Given the description of an element on the screen output the (x, y) to click on. 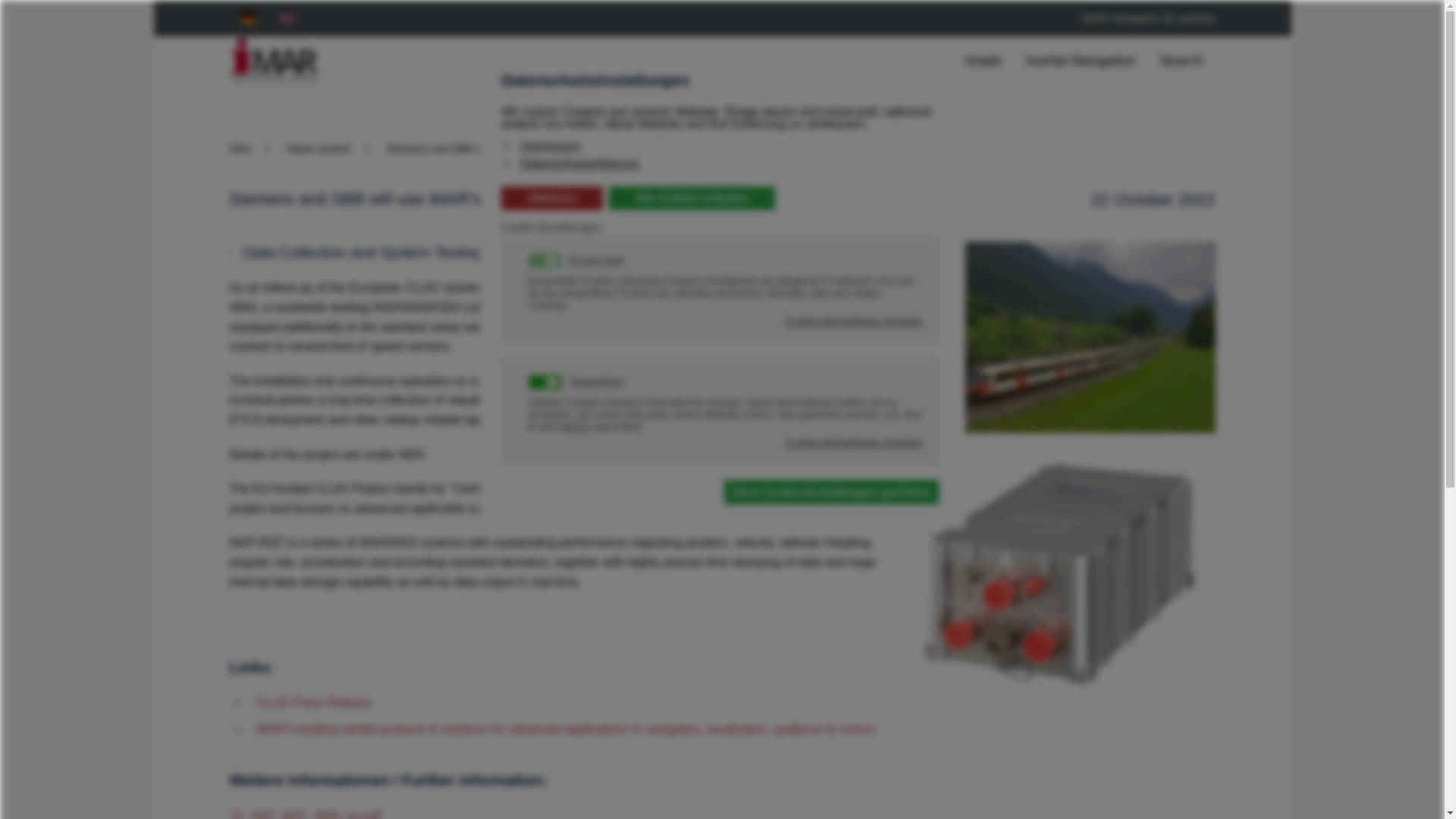
English (285, 17)
Impressum (541, 146)
iNAT-RQT-4003 (304, 812)
Essenziell (598, 260)
Deutsch (247, 17)
Alle Cookies erlauben (691, 198)
Statistiken (598, 381)
Diese Cookie-Einstellungen speichern (831, 491)
Ablehnen (551, 198)
